Given the description of an element on the screen output the (x, y) to click on. 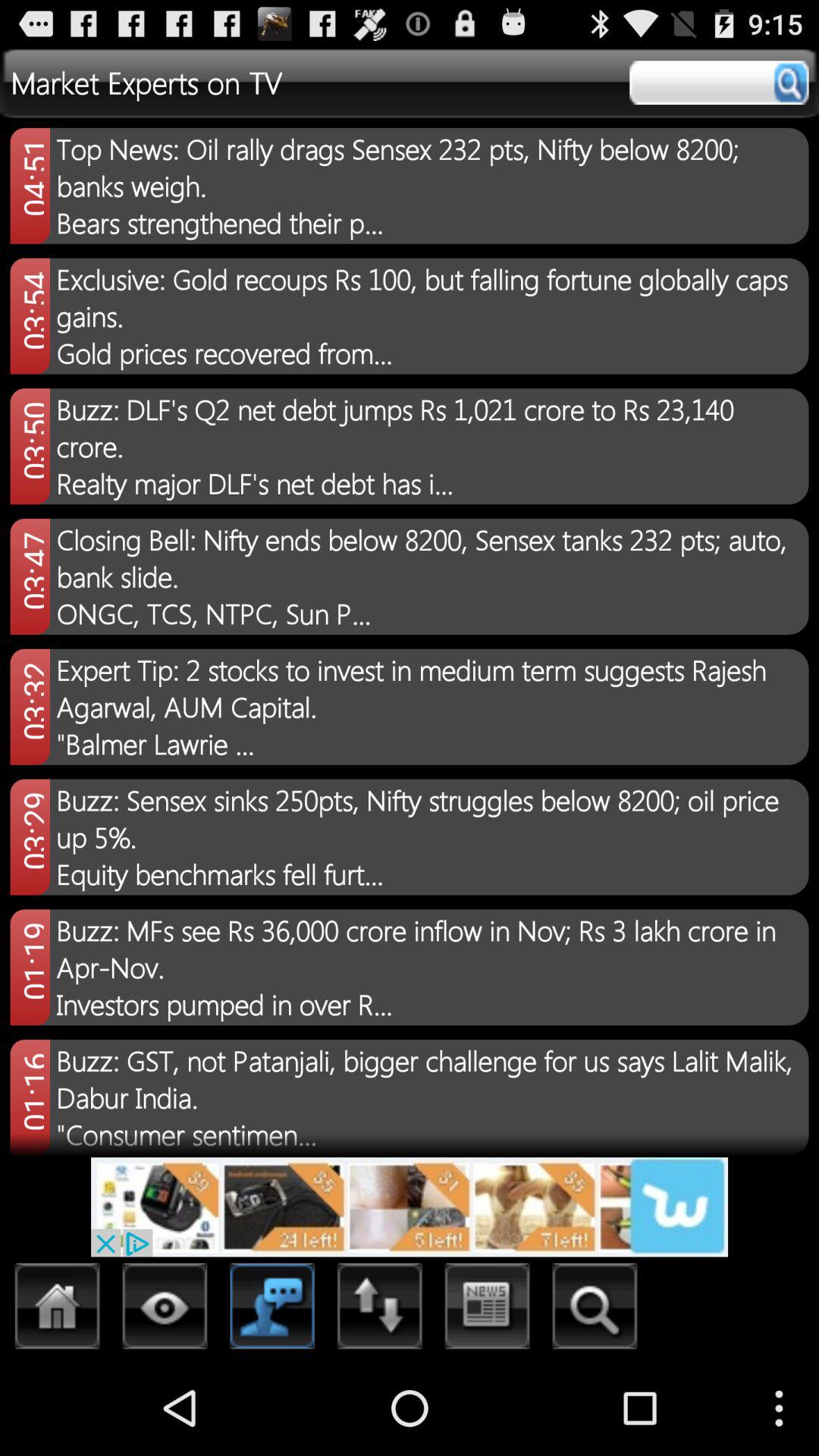
opens the news (487, 1310)
